Given the description of an element on the screen output the (x, y) to click on. 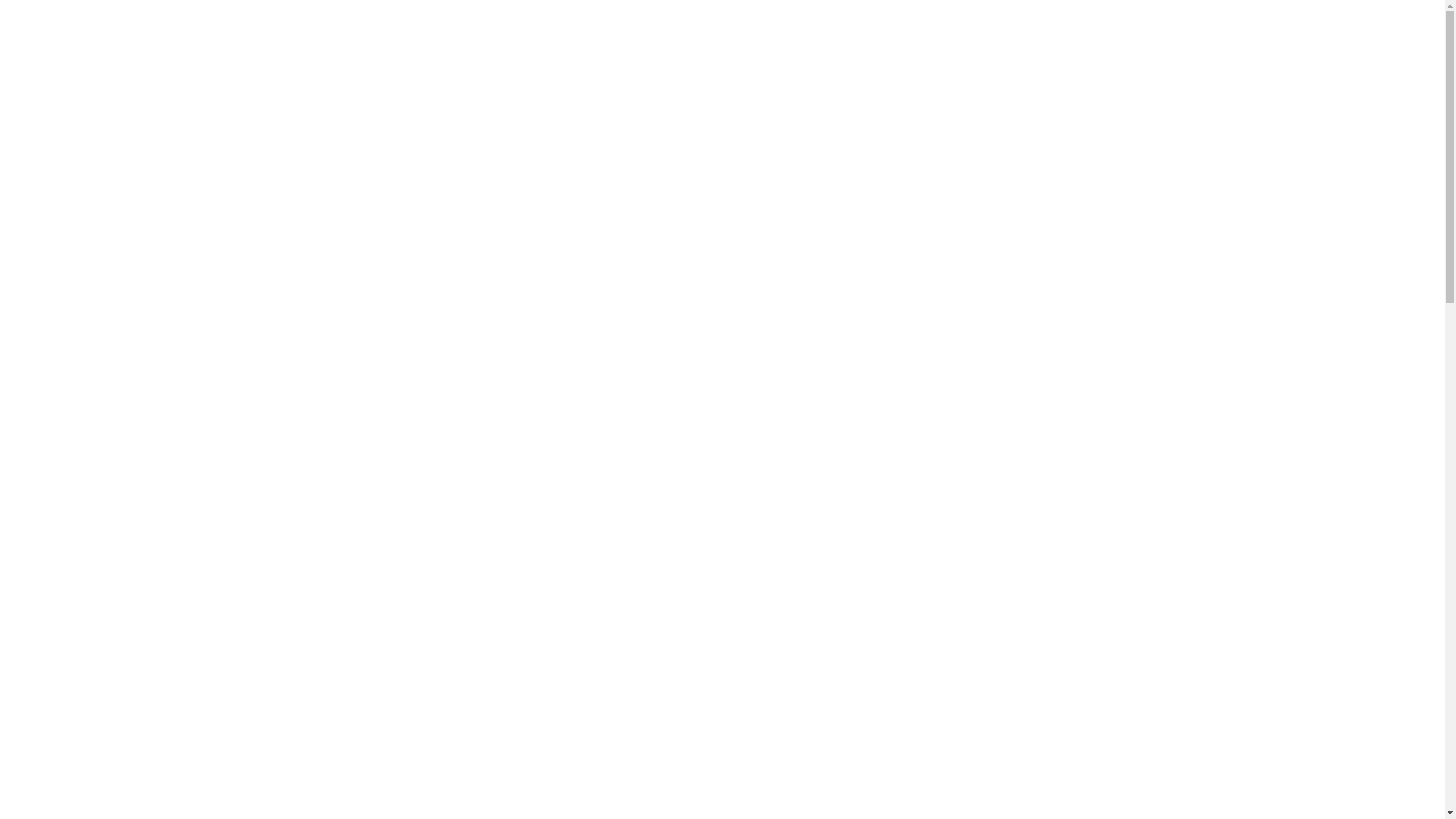
CATERING Element type: text (763, 132)
609)891-2645 Element type: text (123, 54)
GALLERY Element type: text (849, 132)
Home Element type: text (679, 269)
ABOUT US Element type: text (578, 132)
HOME Element type: text (500, 132)
CONTACT Element type: text (934, 132)
OUR MENU Element type: text (670, 132)
